Given the description of an element on the screen output the (x, y) to click on. 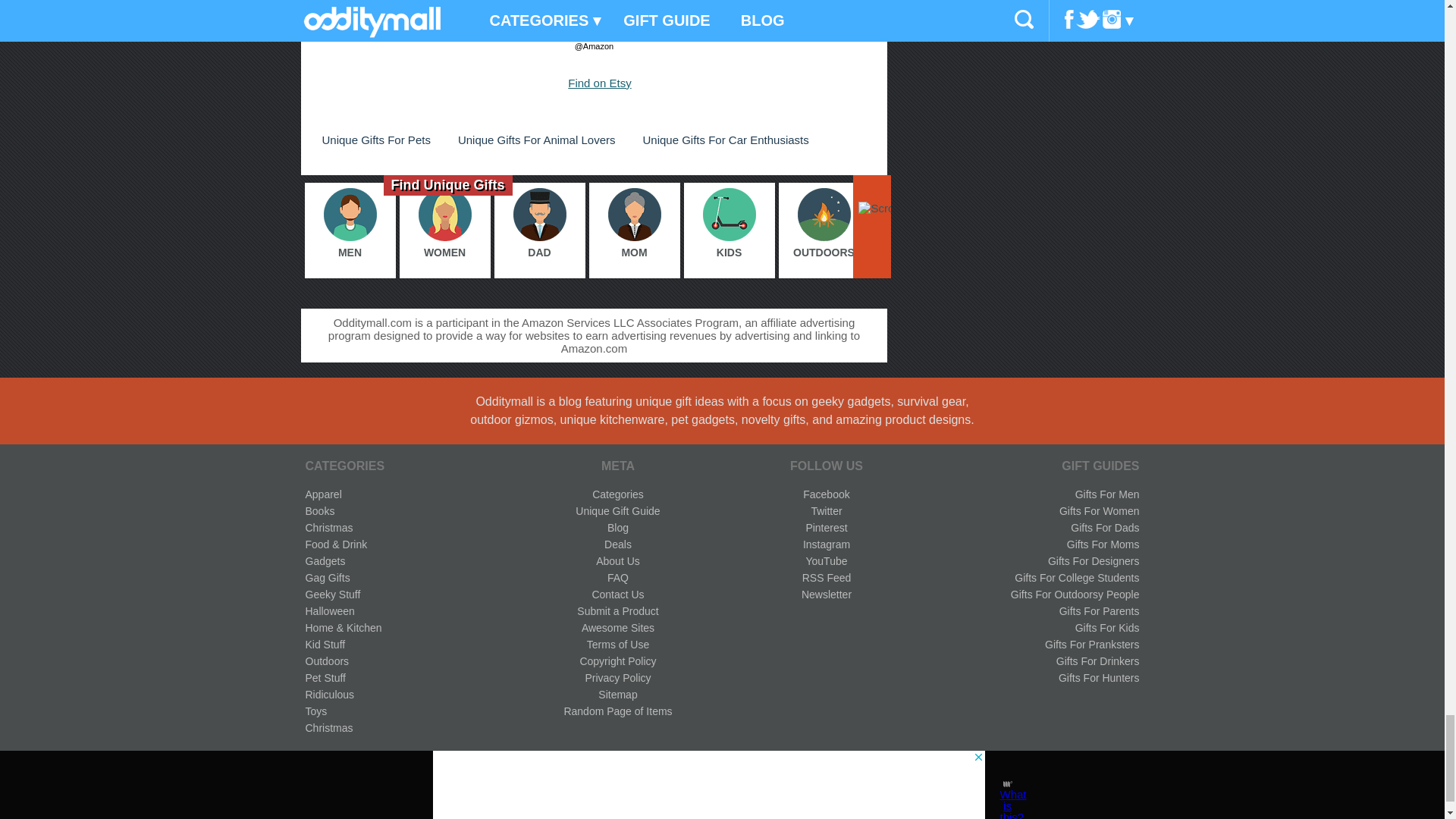
Check Today's Price (593, 23)
Unique Gifts For Animal Lovers (536, 139)
Unique Gifts For Pets (375, 139)
Unique Gifts For Car Enthusiasts (724, 139)
Find on Etsy (598, 82)
Unique Gifts For Pets (375, 139)
Unique Gifts For Animal Lovers (536, 139)
Unique Gifts For Car Enthusiasts (724, 139)
